Given the description of an element on the screen output the (x, y) to click on. 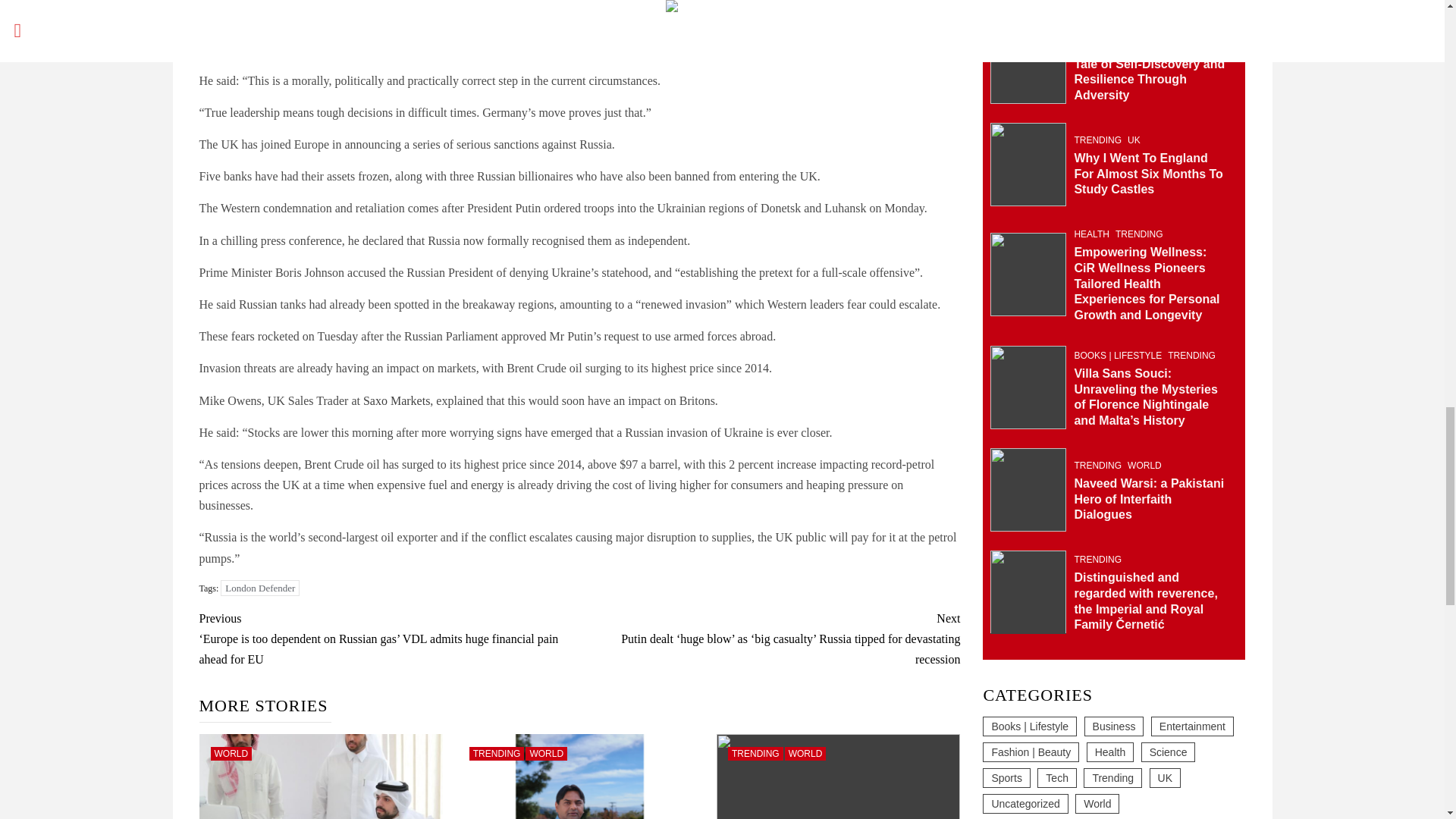
Saxo Markets (395, 400)
London Defender (260, 587)
WORLD (546, 753)
WORLD (805, 753)
TRENDING (496, 753)
TRENDING (755, 753)
WORLD (231, 753)
